Given the description of an element on the screen output the (x, y) to click on. 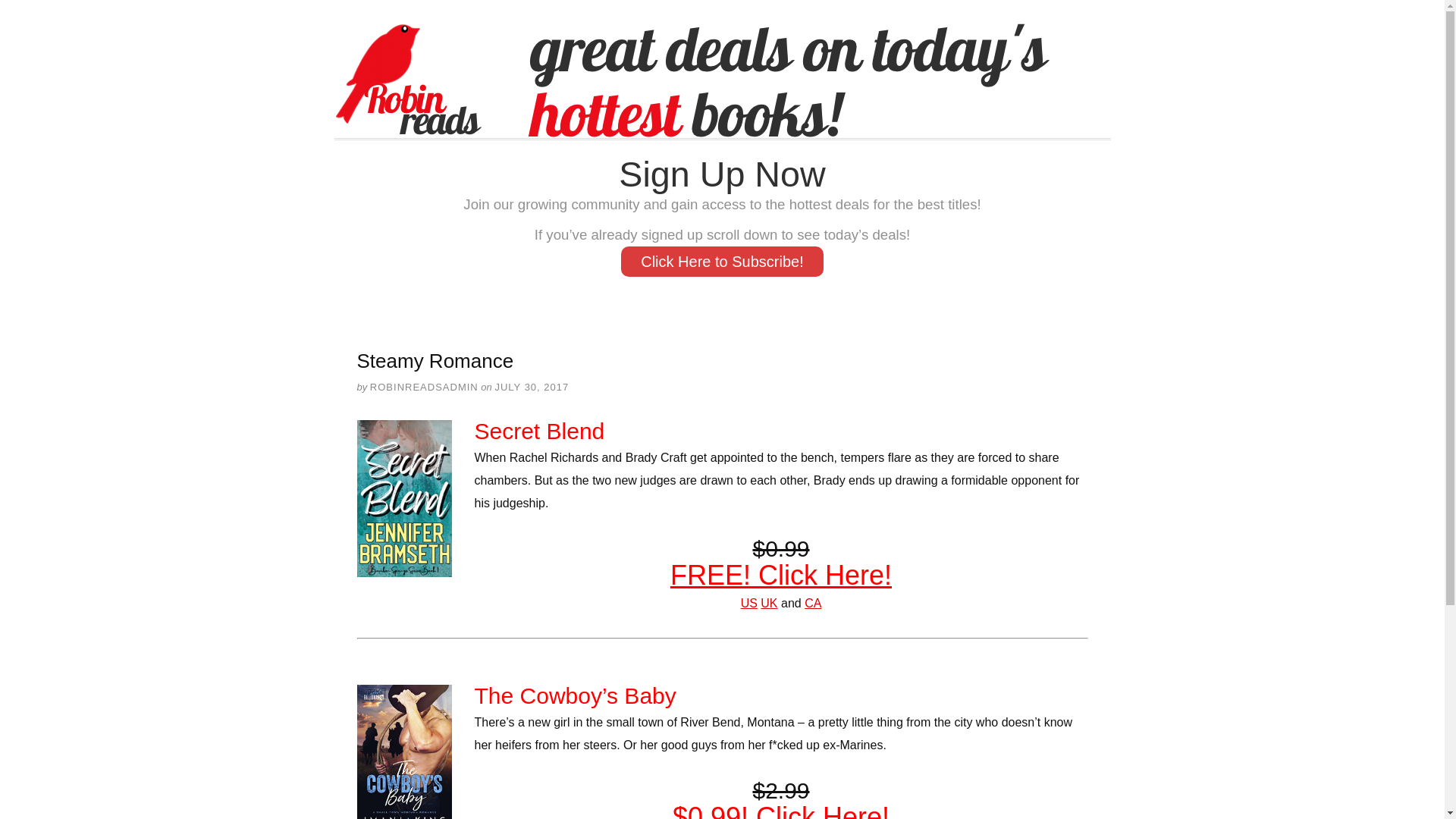
UK (768, 603)
US (749, 603)
CA (813, 603)
Click Here to Subscribe! (722, 261)
FREE! Click Here! (780, 574)
2017-07-30 (532, 387)
